Given the description of an element on the screen output the (x, y) to click on. 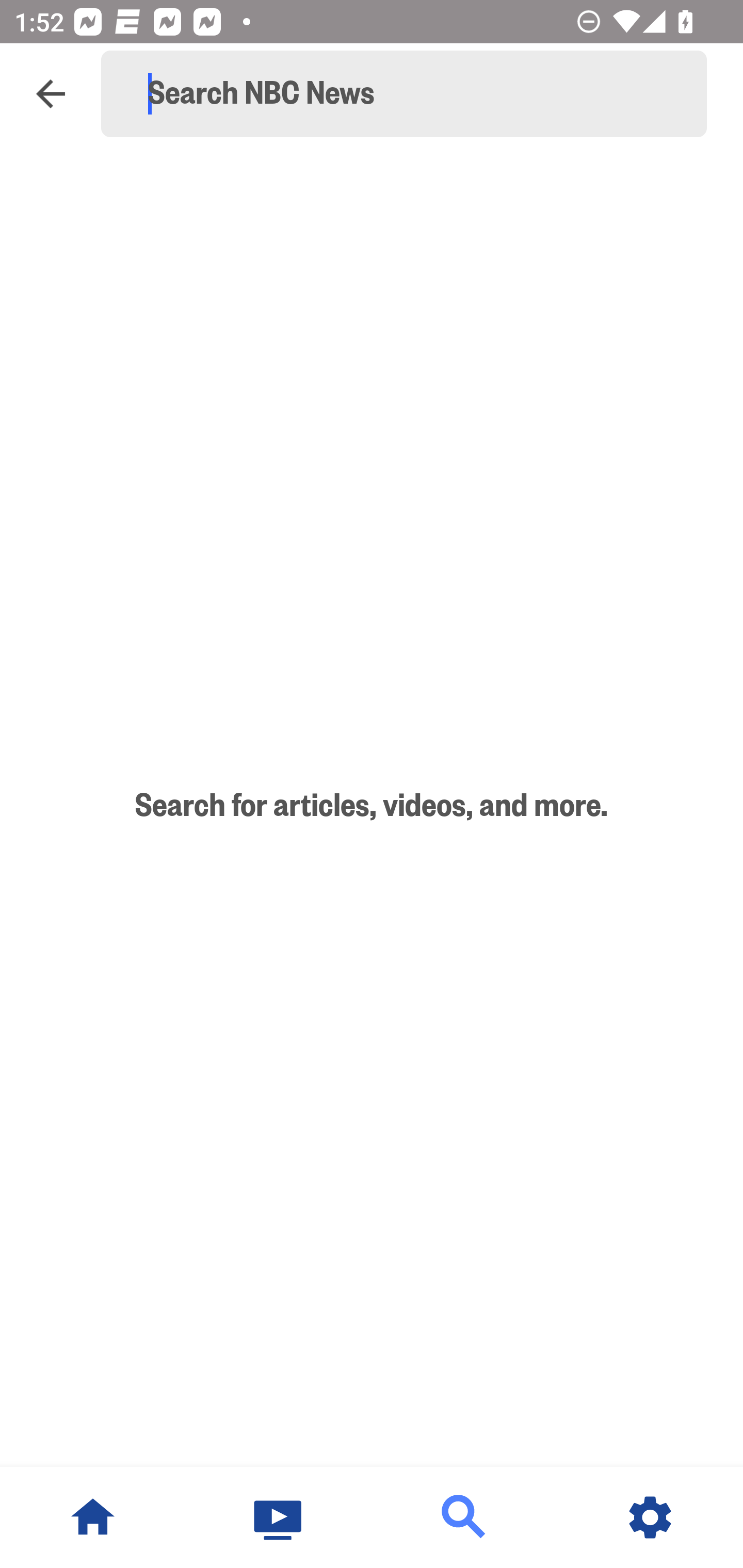
Navigate up (50, 93)
Search NBC News (412, 94)
NBC News Home (92, 1517)
Watch (278, 1517)
Settings (650, 1517)
